Given the description of an element on the screen output the (x, y) to click on. 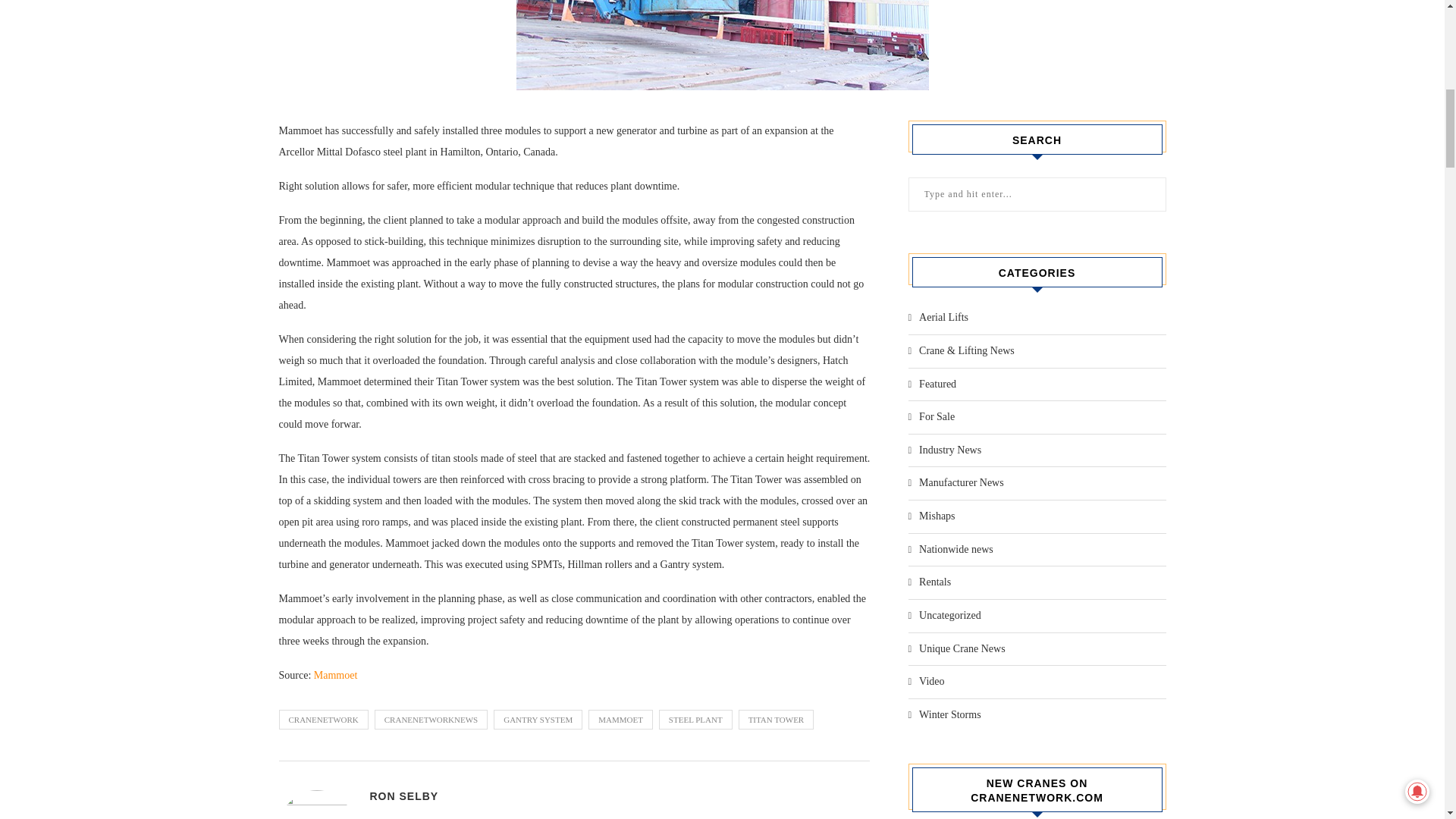
Posts by Ron Selby (404, 796)
